Given the description of an element on the screen output the (x, y) to click on. 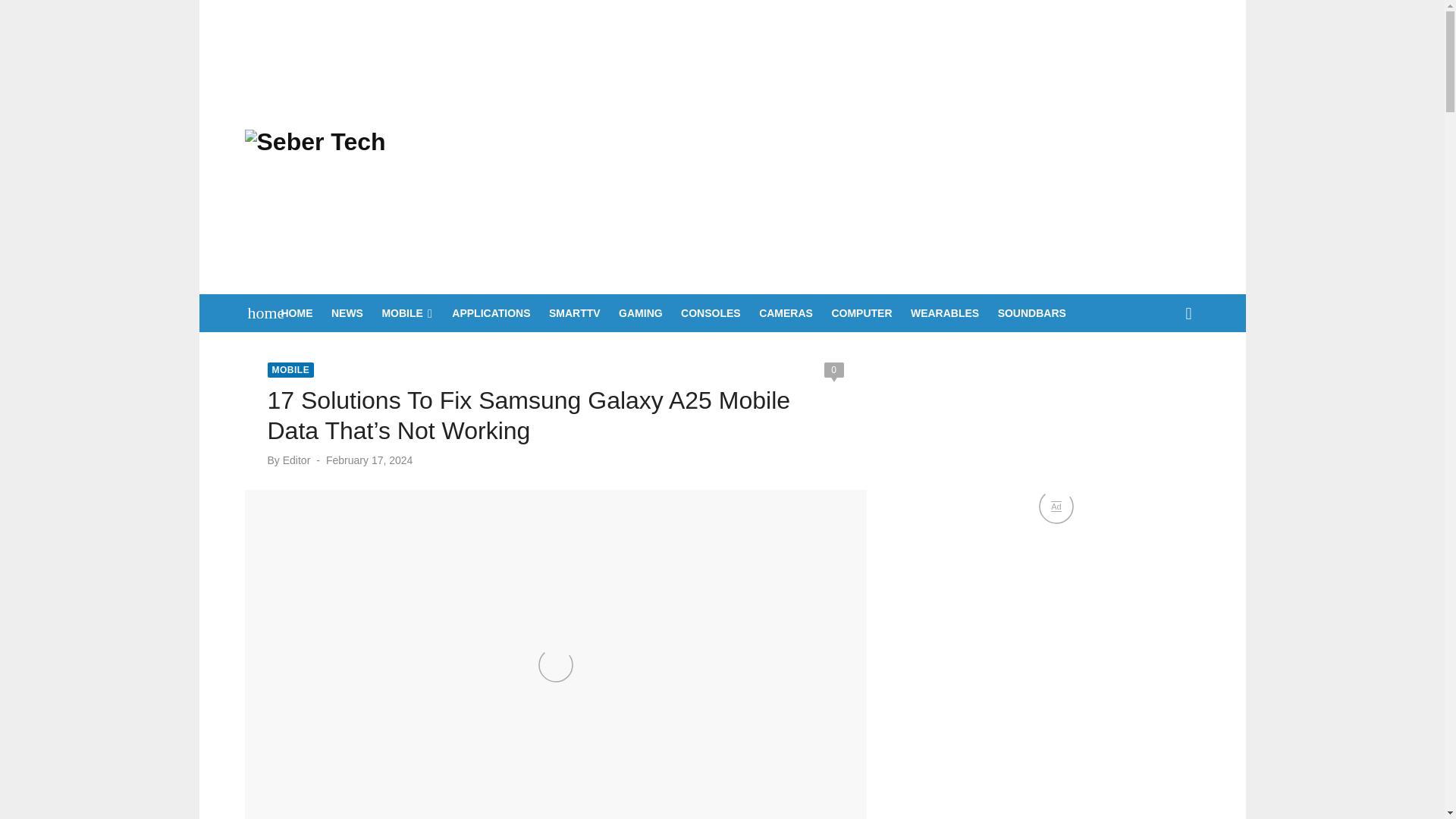
CAMERAS (785, 313)
HOME (296, 313)
0 (833, 369)
February 17, 2024 (369, 459)
SOUNDBARS (1031, 313)
CONSOLES (711, 313)
SMARTTV (575, 313)
APPLICATIONS (490, 313)
home (258, 313)
GAMING (640, 313)
MOBILE (406, 313)
COMPUTER (861, 313)
WEARABLES (944, 313)
MOBILE (290, 370)
